Given the description of an element on the screen output the (x, y) to click on. 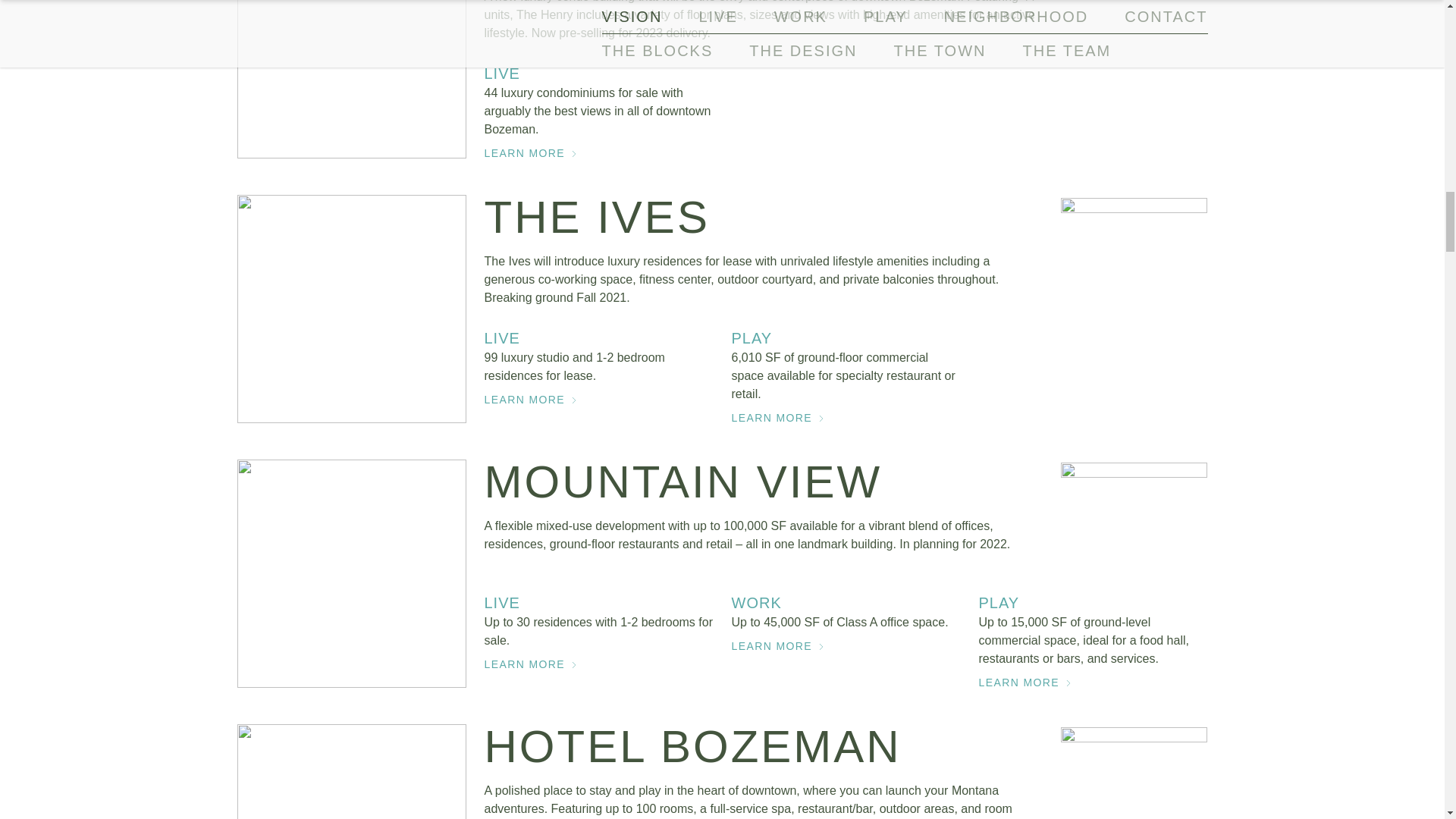
LEARN MORE (844, 417)
LEARN MORE (844, 645)
LEARN MORE (598, 664)
LEARN MORE (598, 153)
LEARN MORE (598, 398)
LEARN MORE (1092, 682)
